Given the description of an element on the screen output the (x, y) to click on. 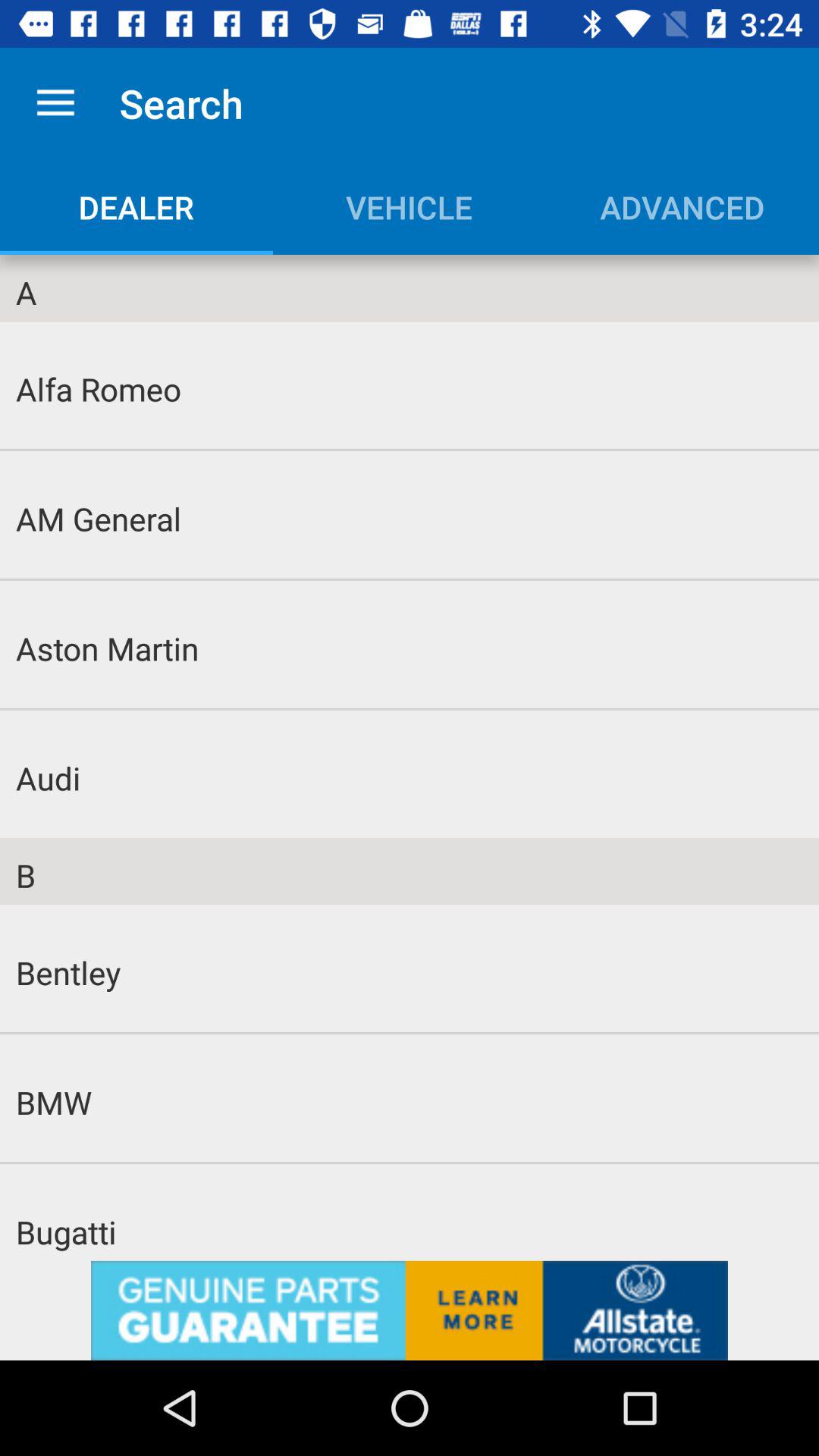
open advertisement (409, 1310)
